Given the description of an element on the screen output the (x, y) to click on. 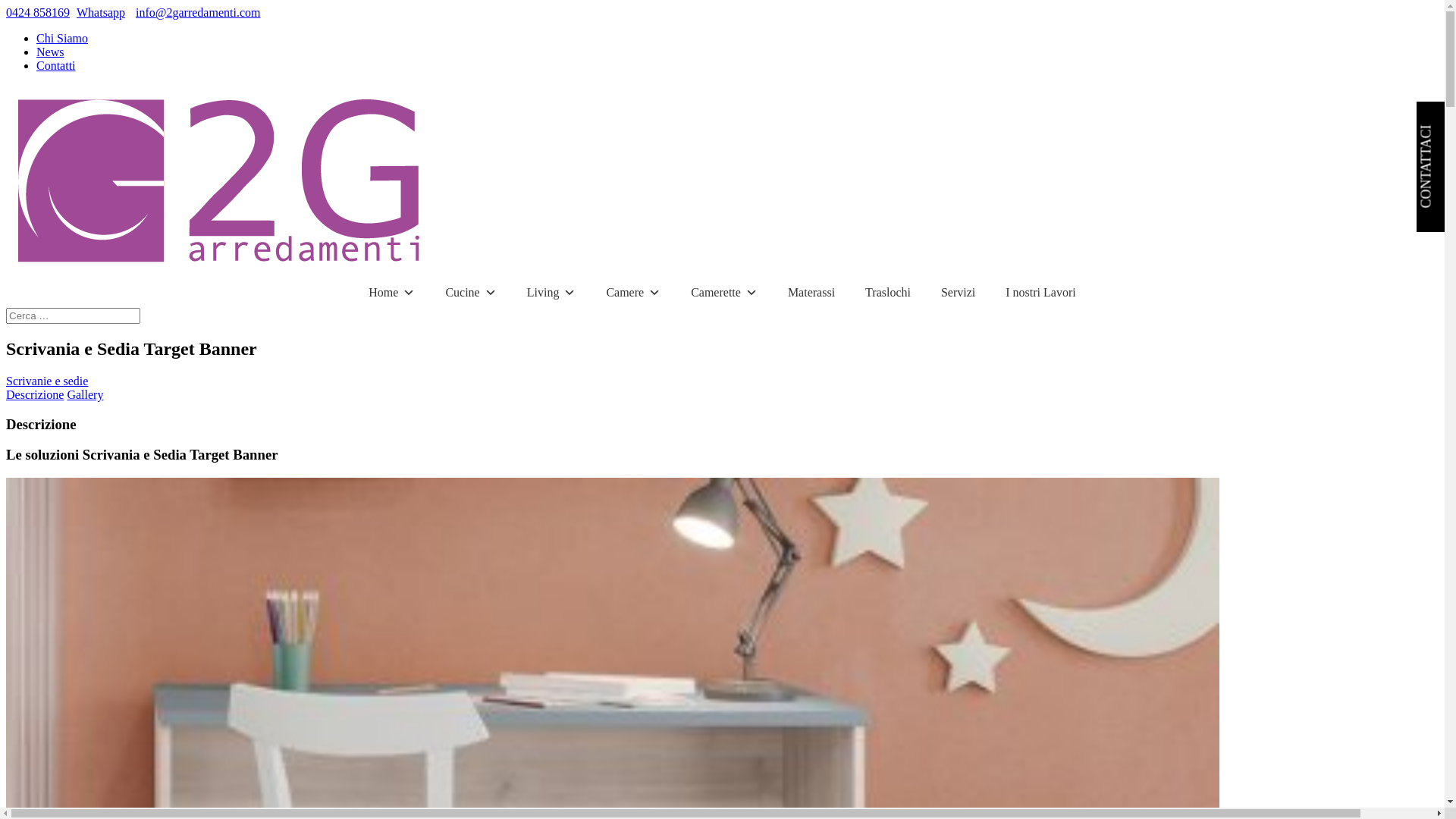
0424 858169 Element type: text (37, 12)
Descrizione Element type: text (34, 394)
Living Element type: text (551, 292)
info@2garredamenti.com Element type: text (197, 12)
Whatsapp Element type: text (98, 12)
Cerca: Element type: hover (73, 315)
Materassi Element type: text (811, 292)
Camerette Element type: text (723, 292)
I nostri Lavori Element type: text (1040, 292)
Scrivanie e sedie Element type: text (46, 380)
Contatti Element type: text (55, 65)
Servizi Element type: text (957, 292)
Chi Siamo Element type: text (61, 37)
Gallery Element type: text (84, 394)
Traslochi Element type: text (887, 292)
News Element type: text (49, 51)
Camere Element type: text (632, 292)
Cucine Element type: text (470, 292)
Home Element type: text (391, 292)
